Given the description of an element on the screen output the (x, y) to click on. 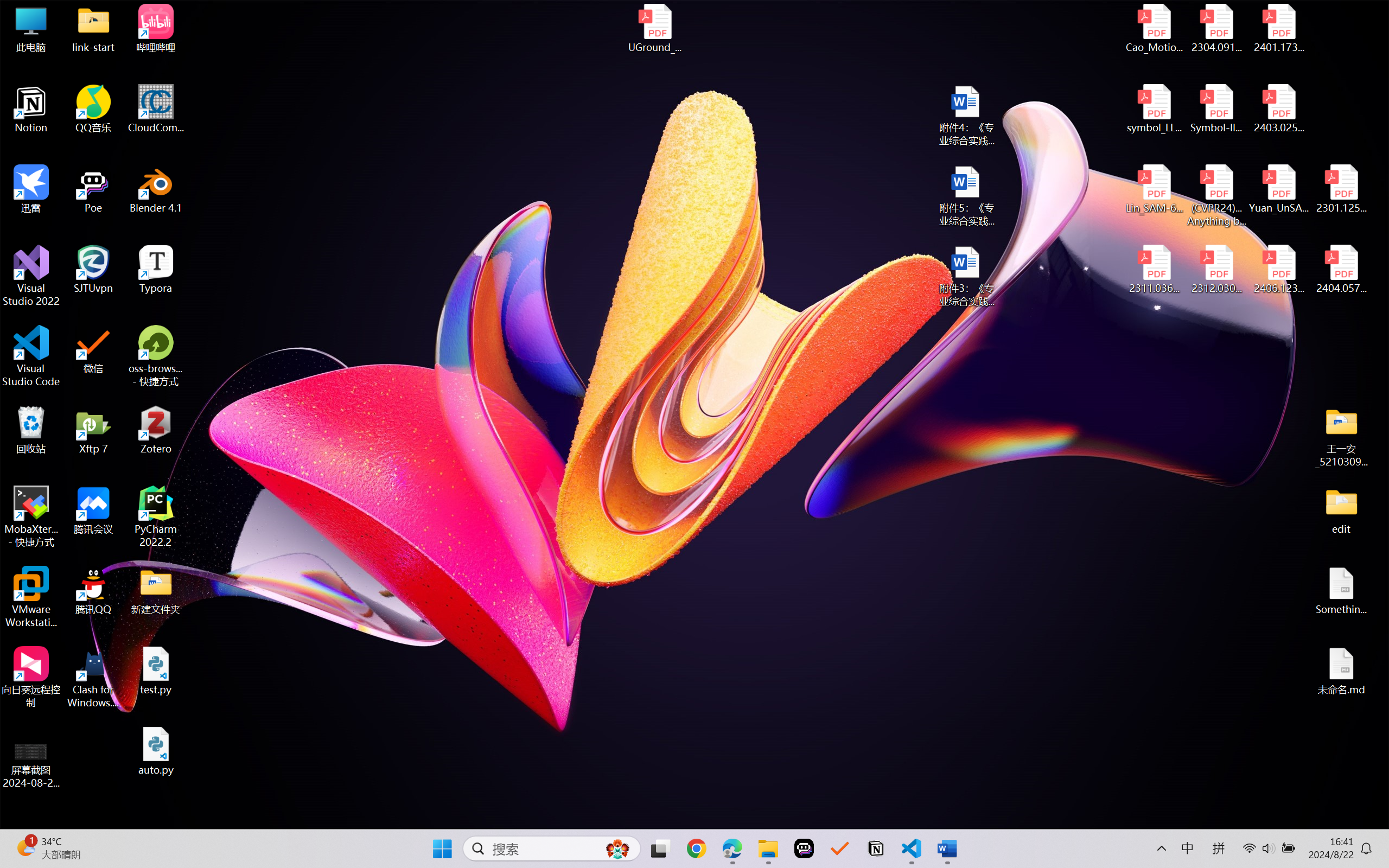
Something.md (1340, 591)
UGround_paper.pdf (654, 28)
Visual Studio Code (31, 355)
2401.17399v1.pdf (1278, 28)
PyCharm 2022.2 (156, 516)
auto.py (156, 751)
